Given the description of an element on the screen output the (x, y) to click on. 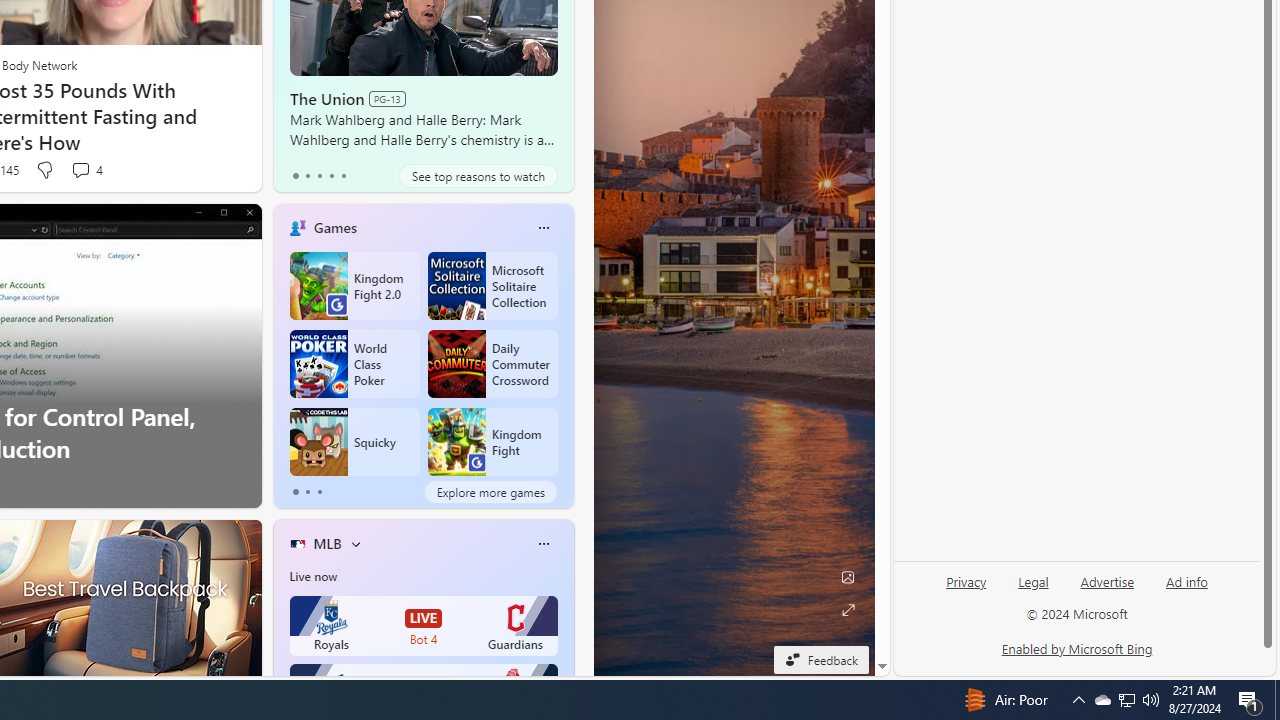
Advertise (1107, 582)
Explore more games (490, 491)
tab-1 (306, 491)
tab-0 (295, 491)
Feedback (821, 659)
MLB (327, 543)
tab-4 (342, 175)
Class: sd-card-game-item-img-inner (456, 441)
Dislike (43, 170)
Privacy (966, 589)
Class: icon-img (543, 543)
Royals LIVE Bot 4 Guardians (423, 625)
Games (335, 227)
Legal (1033, 582)
